Given the description of an element on the screen output the (x, y) to click on. 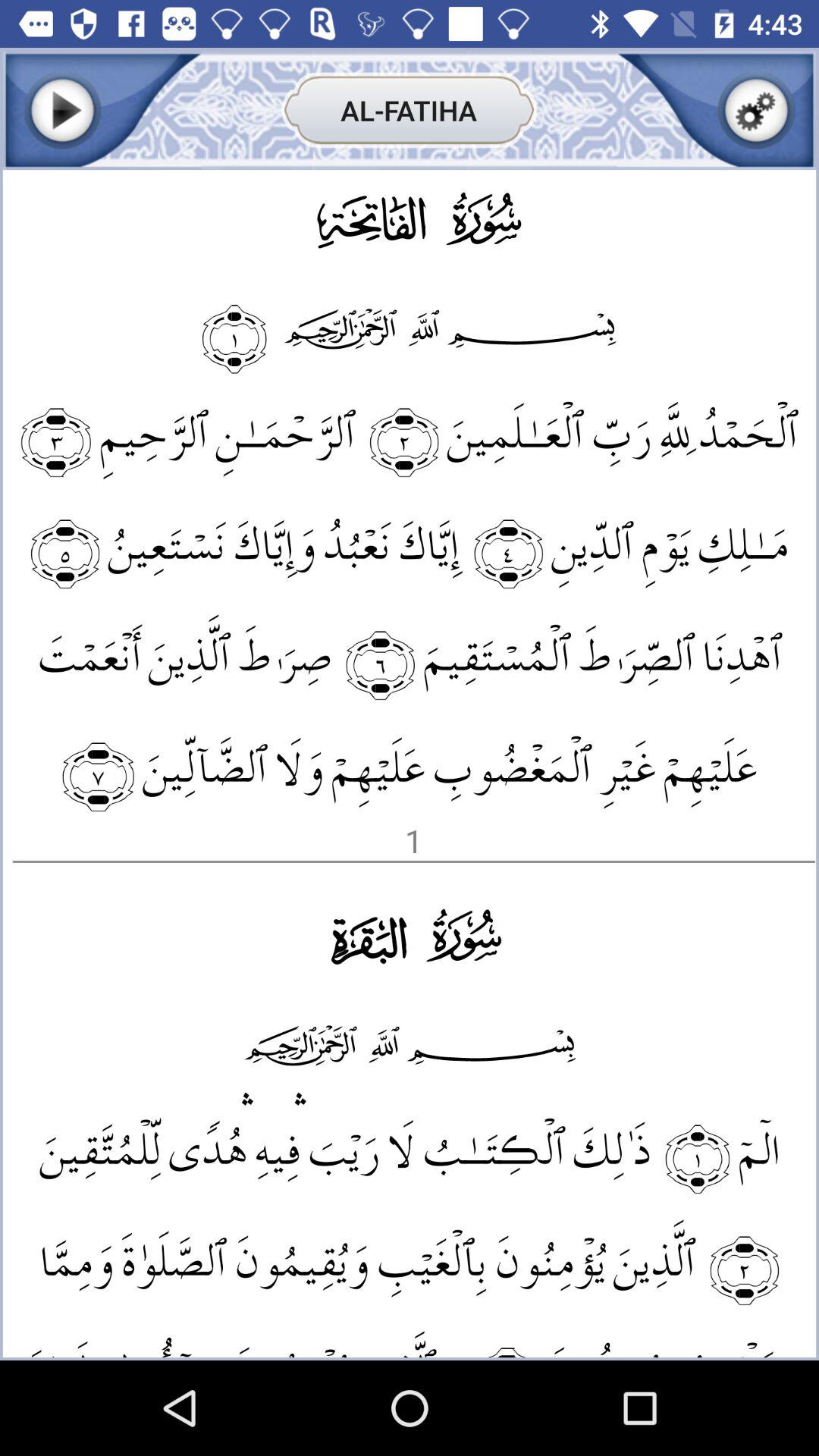
play option (62, 110)
